Given the description of an element on the screen output the (x, y) to click on. 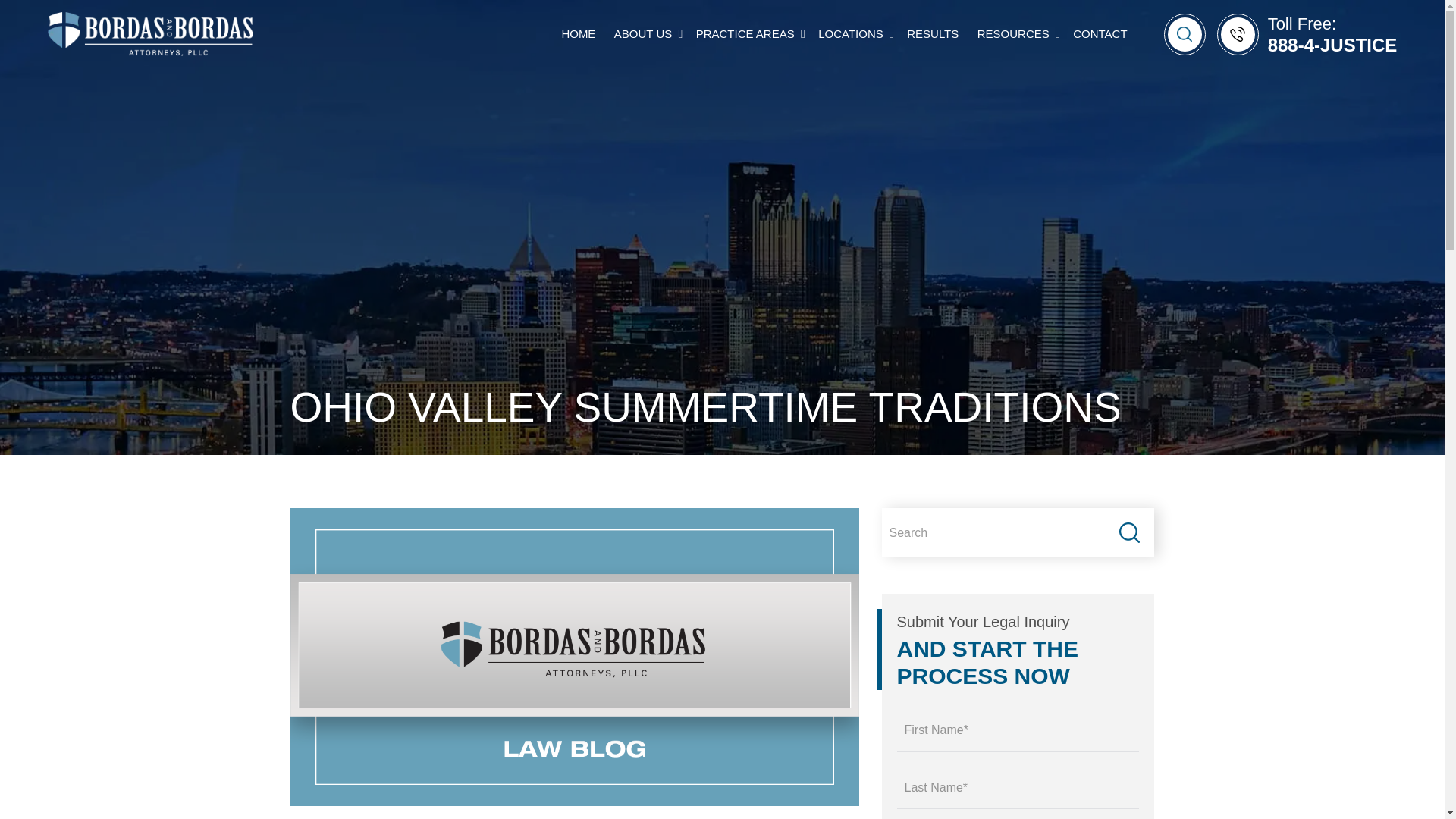
HOME (577, 34)
PRACTICE AREAS (748, 33)
RESOURCES (1012, 34)
LOCATIONS (850, 34)
ABOUT US (642, 34)
RESULTS (932, 34)
PRACTICE AREAS (744, 34)
